Given the description of an element on the screen output the (x, y) to click on. 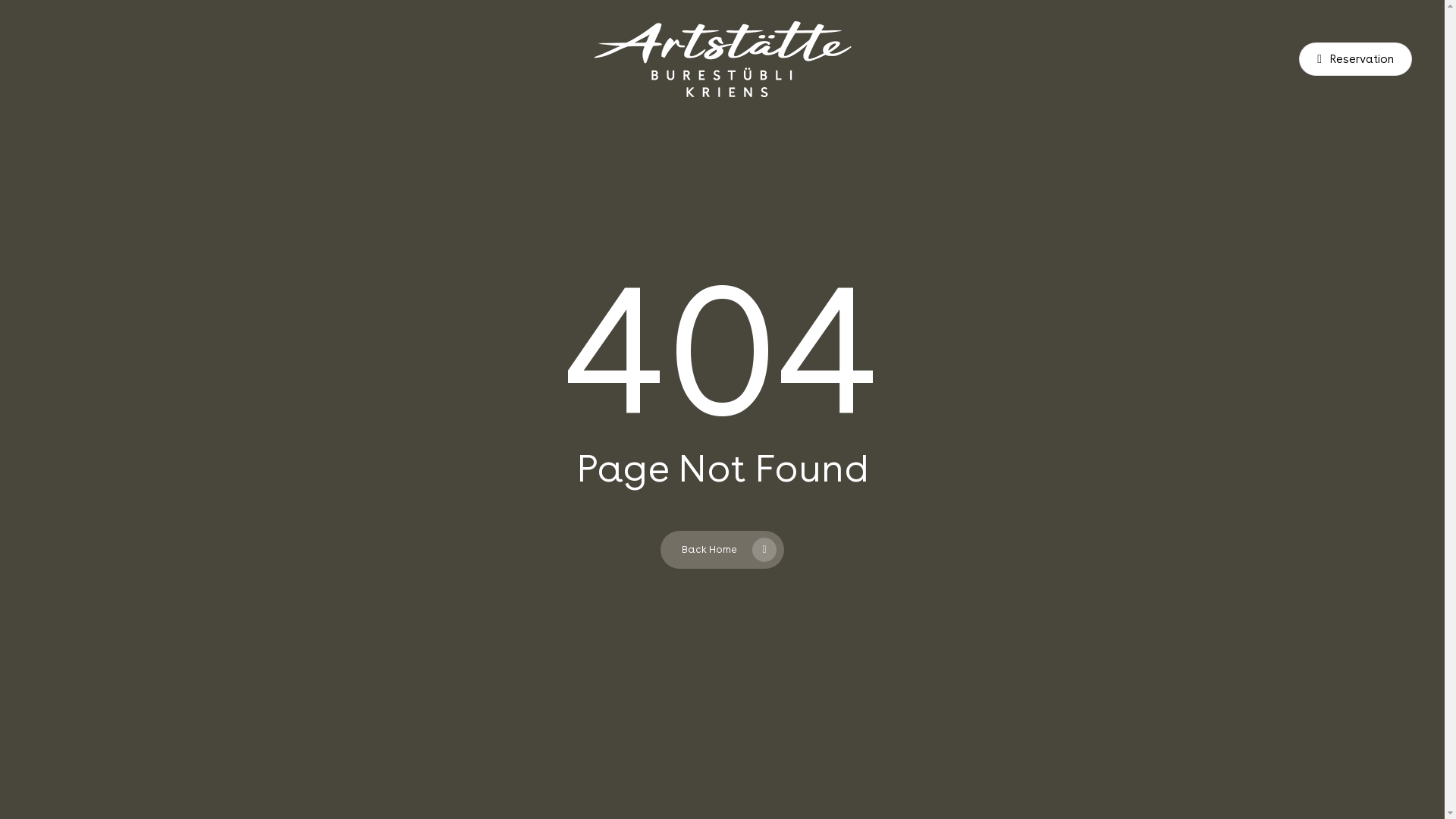
Back Home Element type: text (722, 549)
Reservation Element type: text (1355, 58)
